Given the description of an element on the screen output the (x, y) to click on. 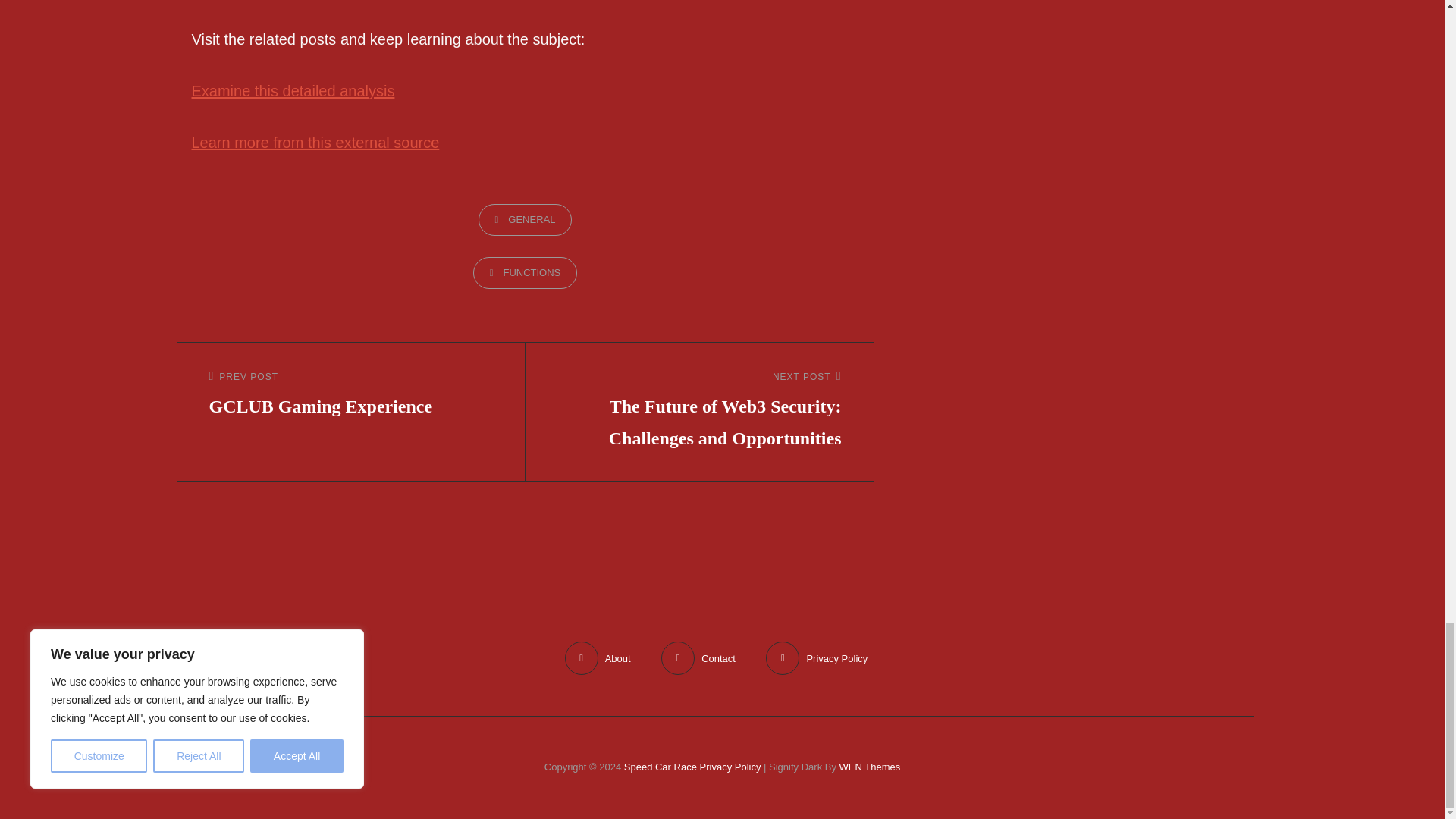
Examine this detailed analysis (292, 90)
GENERAL (525, 219)
Learn more from this external source (314, 142)
FUNCTIONS (525, 273)
